Given the description of an element on the screen output the (x, y) to click on. 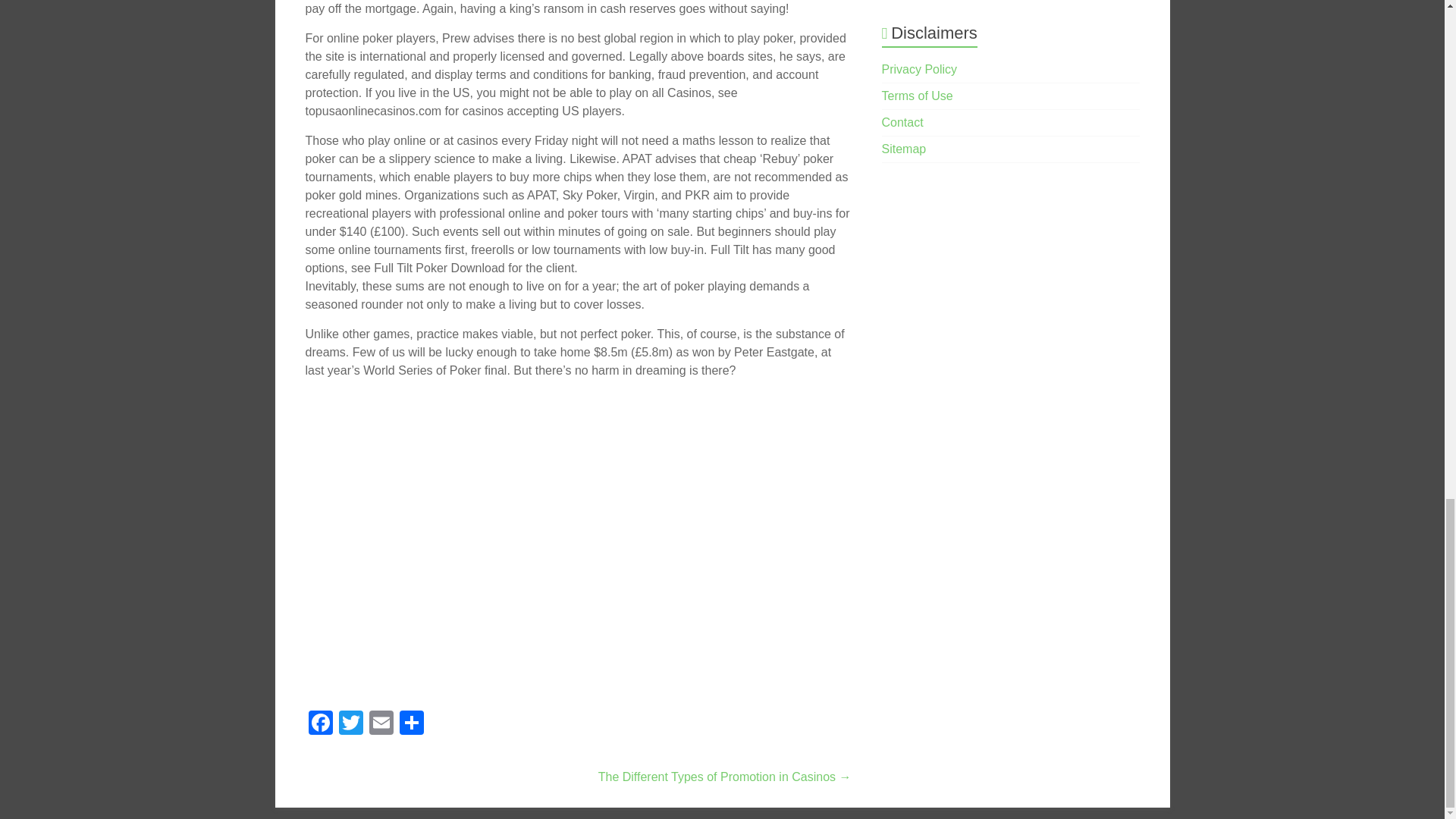
Sitemap (904, 148)
Facebook (319, 724)
Email (380, 724)
Email (380, 724)
Facebook (319, 724)
Twitter (349, 724)
Contact (902, 122)
Terms of Use (917, 95)
Twitter (349, 724)
Privacy Policy (920, 69)
